Given the description of an element on the screen output the (x, y) to click on. 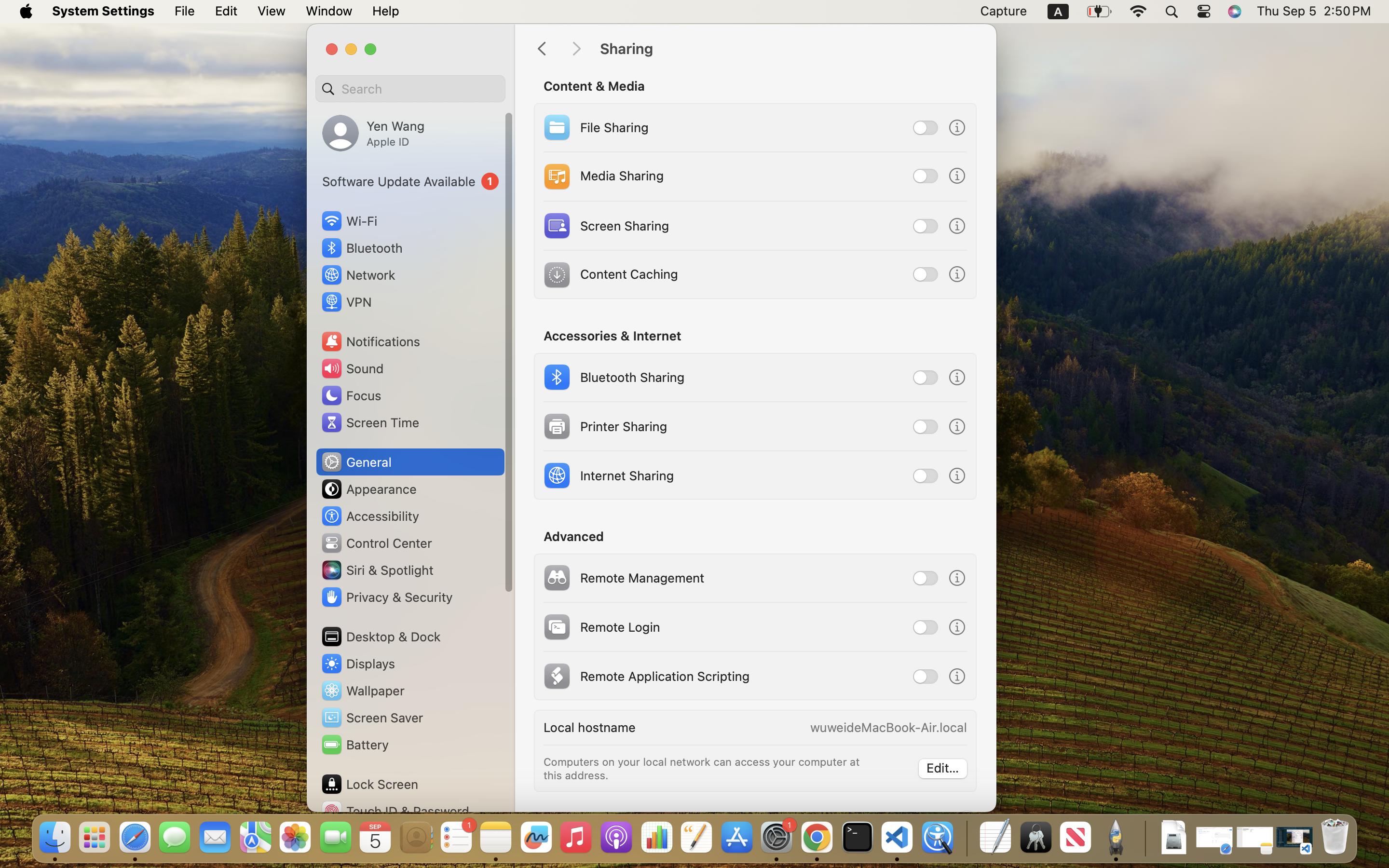
Touch ID & Password Element type: AXStaticText (394, 810)
Lock Screen Element type: AXStaticText (369, 783)
Displays Element type: AXStaticText (357, 663)
Battery Element type: AXStaticText (354, 744)
Screen Sharing Element type: AXStaticText (604, 225)
